Given the description of an element on the screen output the (x, y) to click on. 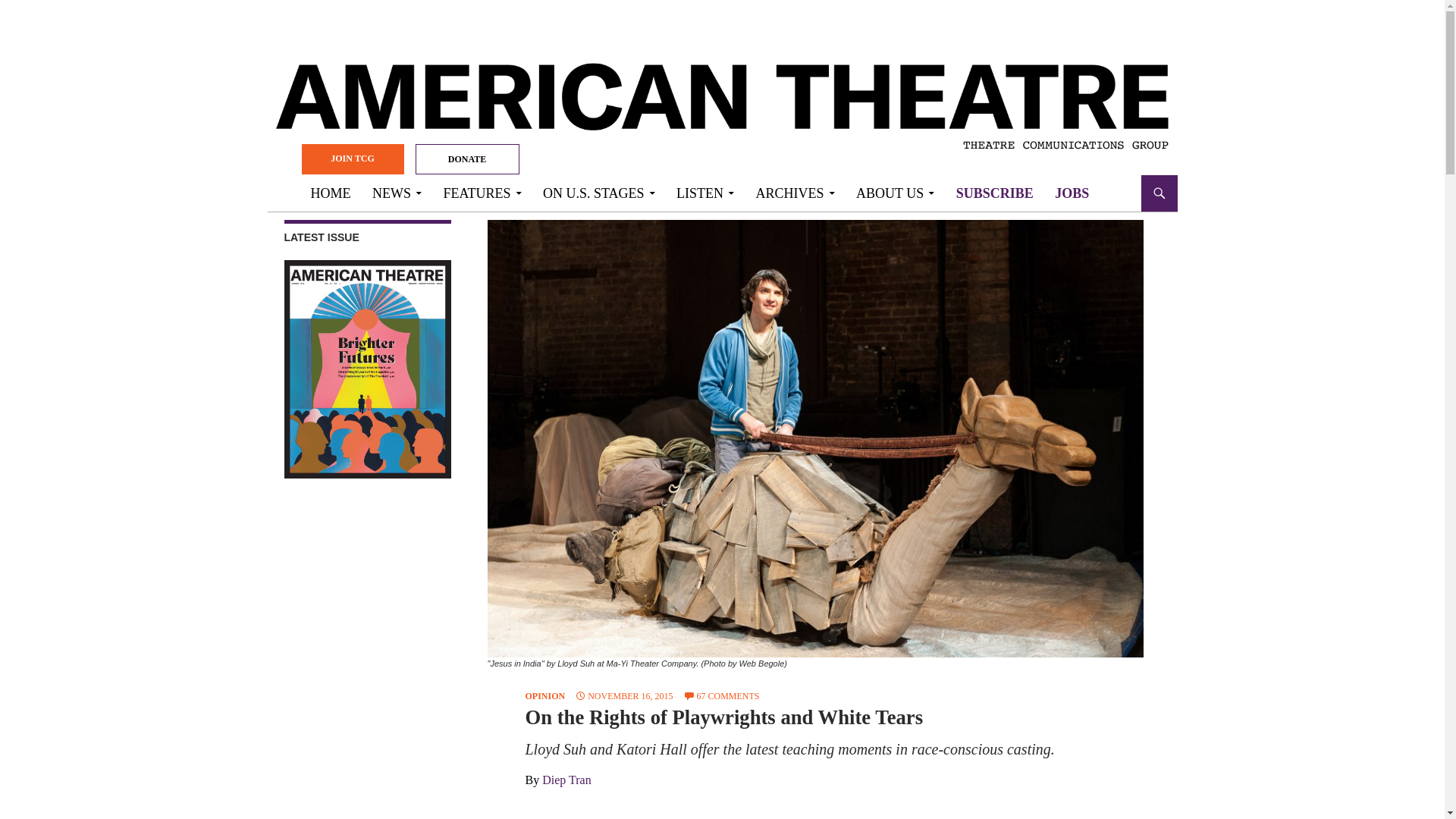
HOME (330, 193)
ARCHIVES (795, 193)
ABOUT US (895, 193)
JOIN TCG (352, 159)
DONATE (466, 159)
ON U.S. STAGES (598, 193)
JOBS (1071, 193)
FEATURES (481, 193)
View all posts in Opinion (544, 696)
LISTEN (704, 193)
